Given the description of an element on the screen output the (x, y) to click on. 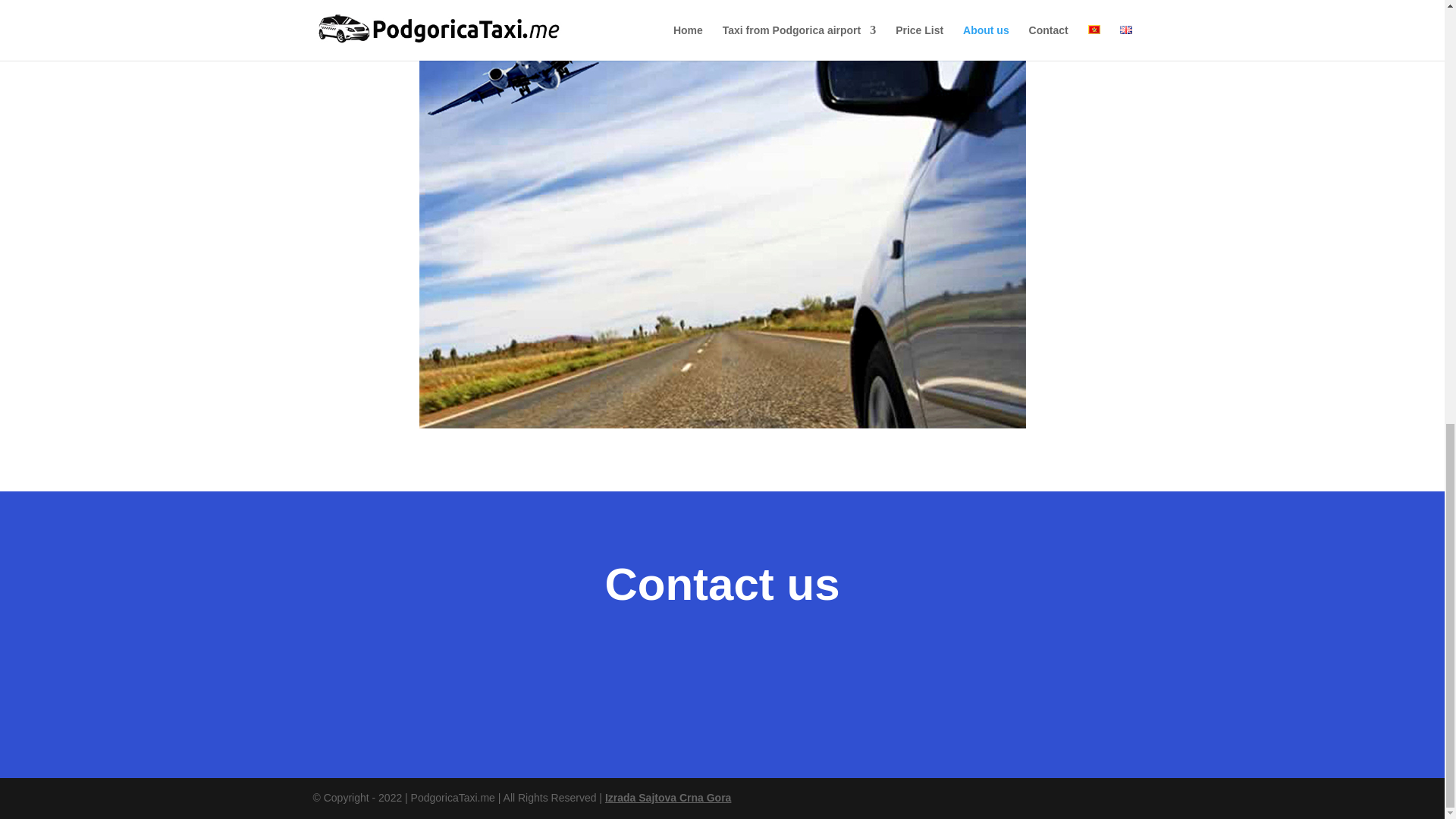
Izrada Sajtova Crna Gora (668, 797)
